Given the description of an element on the screen output the (x, y) to click on. 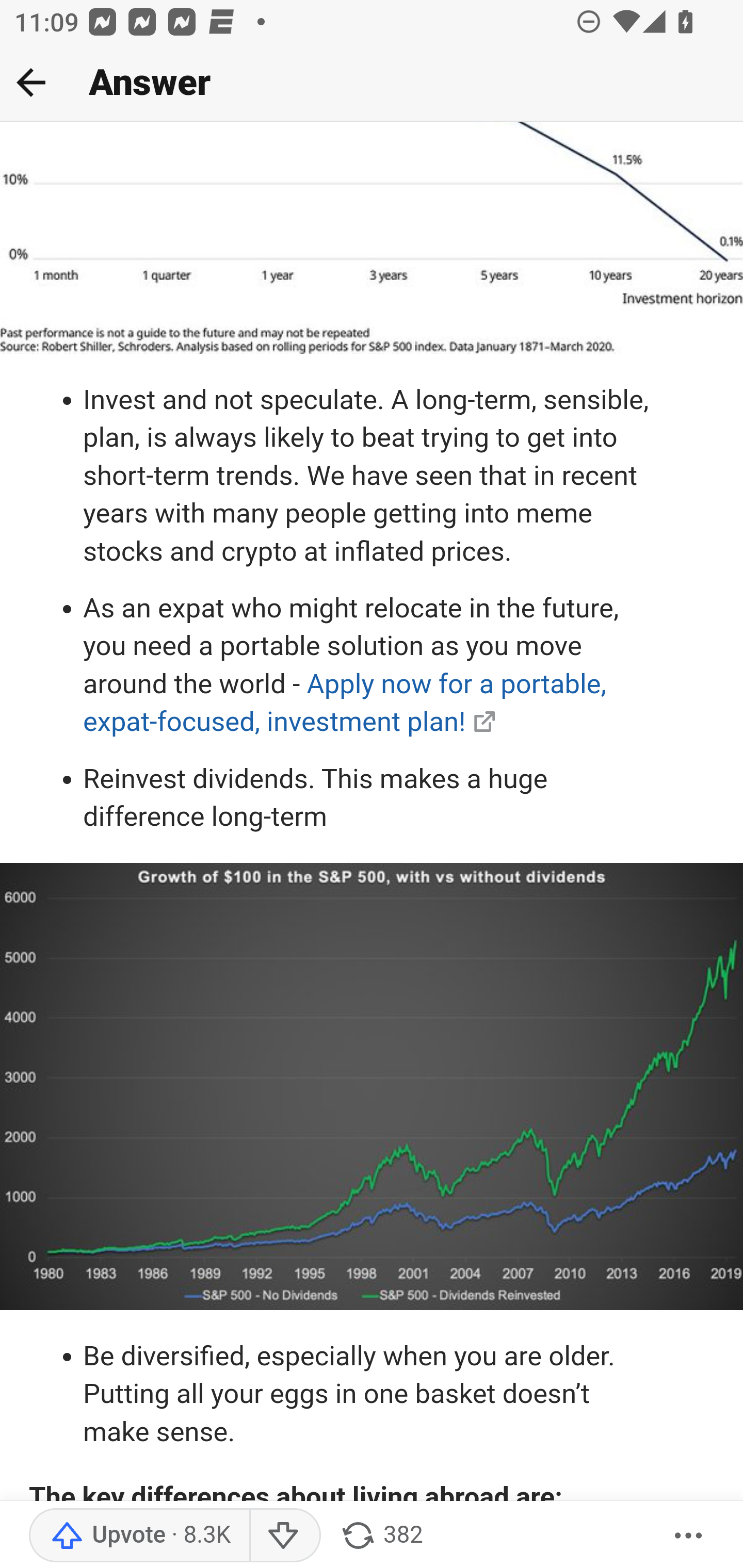
Back (30, 82)
main-qimg-f4f2abaf83ad35cc7004cd539396be25-lq (371, 238)
main-qimg-38c4cb4515f8efcdd652562d147448aa-pjlq (371, 1088)
Upvote (138, 1535)
Downvote (283, 1535)
382 shares (380, 1535)
More (688, 1535)
